Given the description of an element on the screen output the (x, y) to click on. 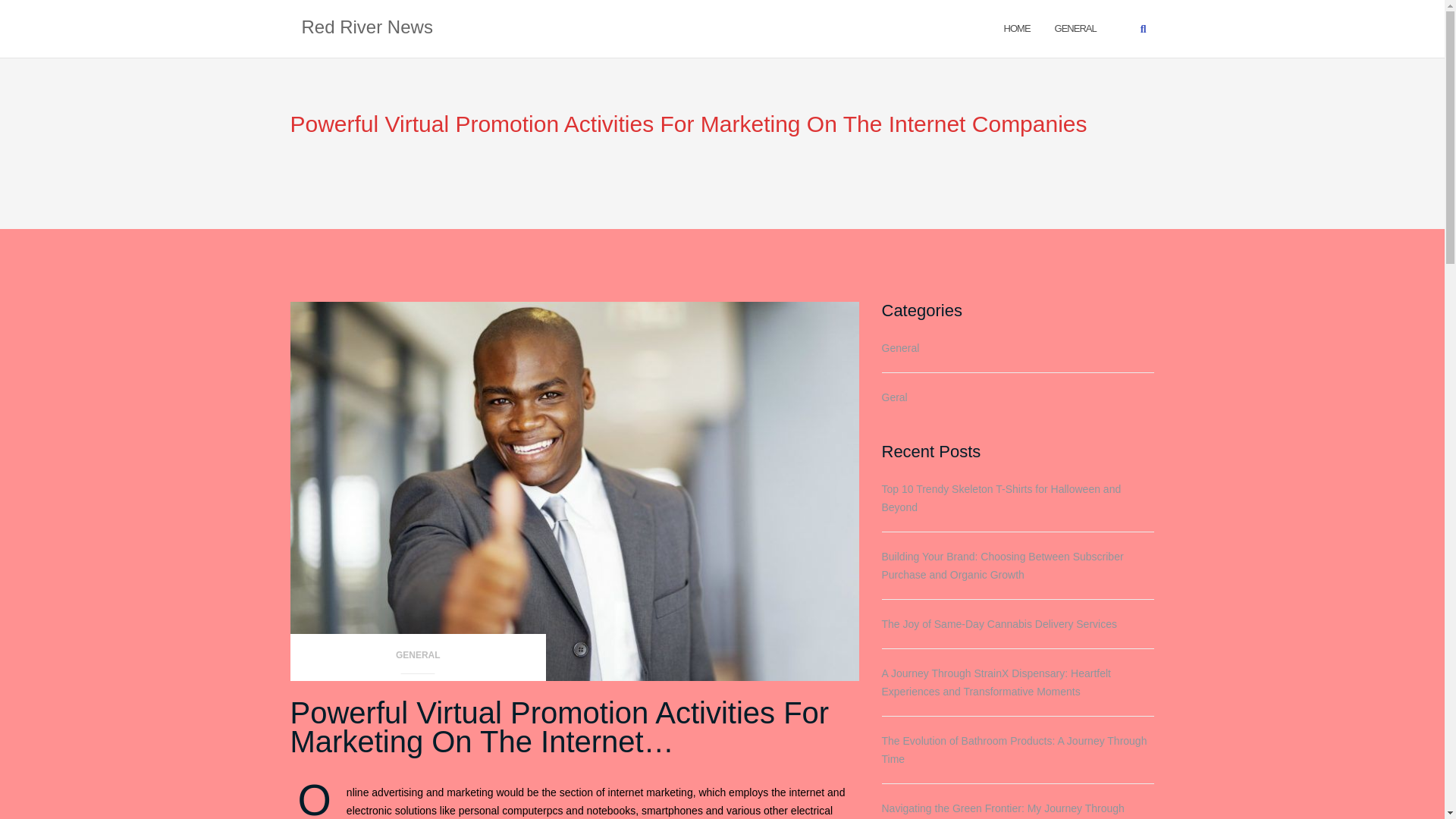
GENERAL (417, 660)
GENERAL (1075, 28)
General (1075, 28)
Red River News (366, 28)
